Given the description of an element on the screen output the (x, y) to click on. 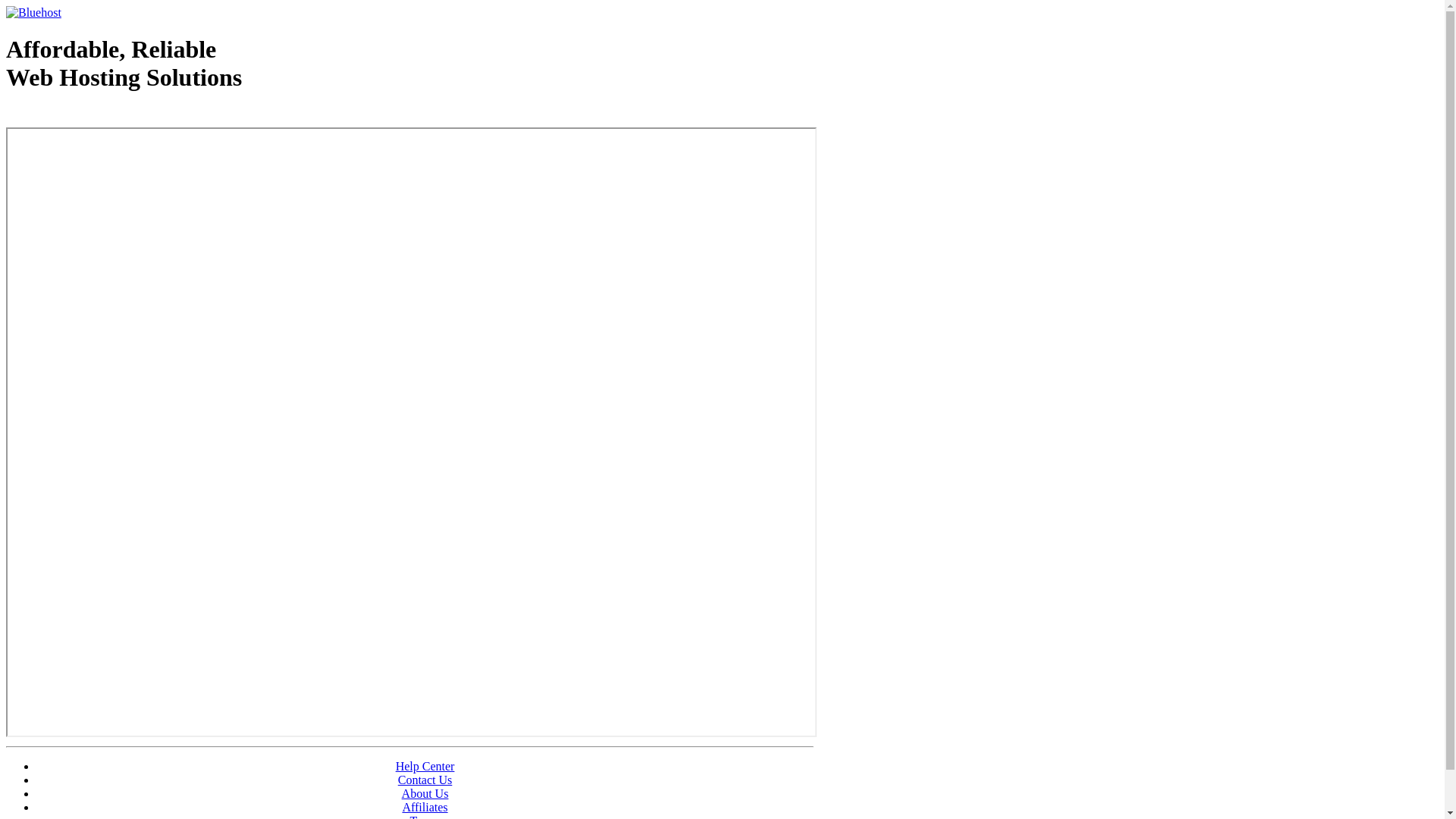
Contact Us Element type: text (425, 779)
Affiliates Element type: text (424, 806)
About Us Element type: text (424, 793)
Help Center Element type: text (425, 765)
Web Hosting - courtesy of www.bluehost.com Element type: text (94, 115)
